Given the description of an element on the screen output the (x, y) to click on. 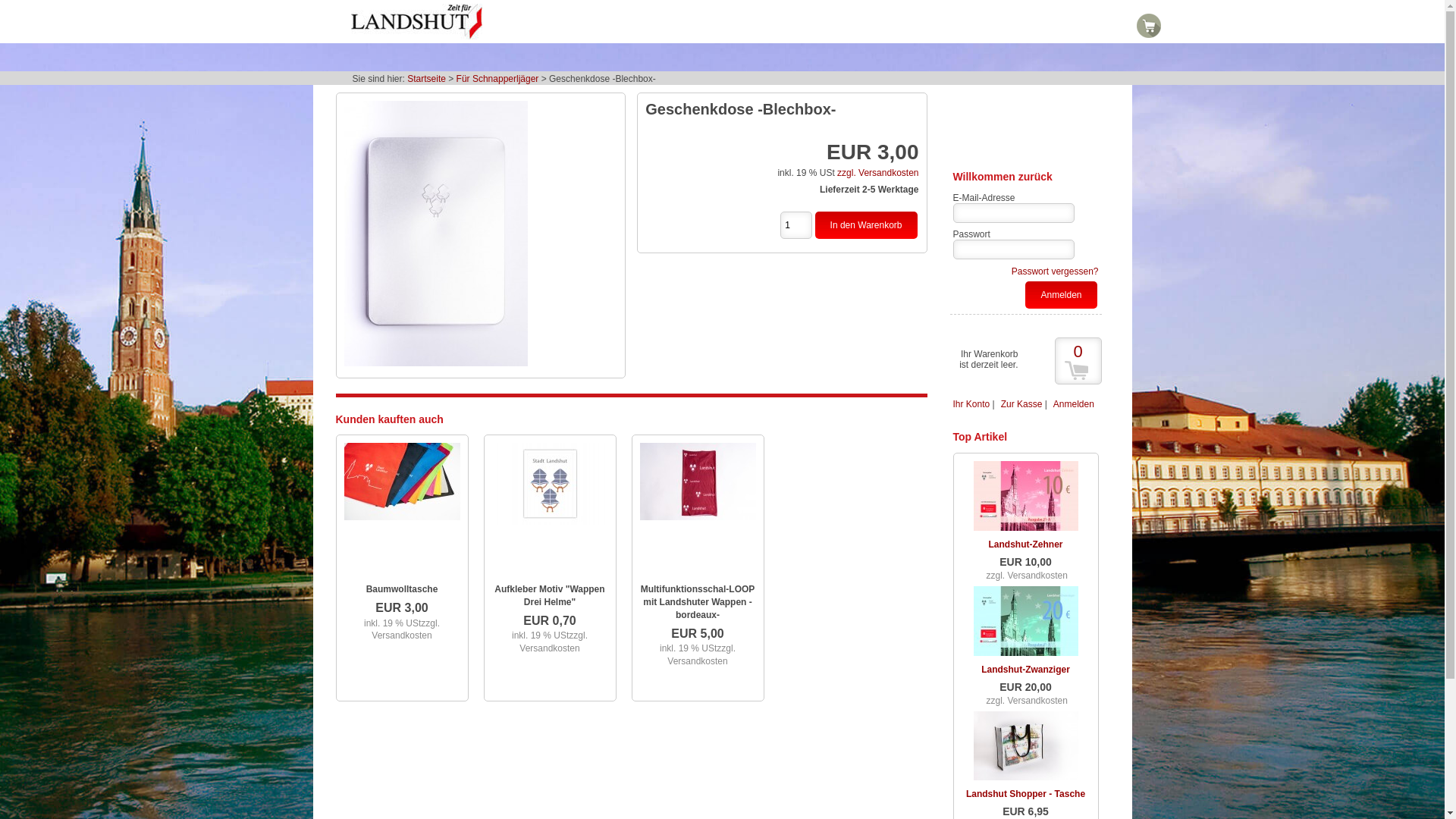
zzgl. Versandkosten Element type: text (405, 629)
zzgl. Versandkosten Element type: text (553, 641)
Anmelden Element type: hover (1060, 294)
In den Warenkorb Element type: hover (866, 224)
Top Artikel Element type: text (979, 436)
Landshut Shopper - Tasche Element type: text (1025, 793)
Zur Kasse Element type: text (1021, 403)
Anmelden Element type: text (1073, 403)
zzgl. Versandkosten Element type: text (701, 654)
Ihr Konto Element type: text (970, 403)
Passwort vergessen? Element type: text (1054, 271)
zzgl. Versandkosten Element type: text (1025, 577)
Landshut-Zehner Element type: text (1025, 544)
In den Warenkorb Element type: text (866, 224)
Startseite Element type: text (426, 78)
0 Element type: text (1078, 360)
Anmelden Element type: text (1060, 294)
zzgl. Versandkosten Element type: text (1025, 702)
zzgl. Versandkosten Element type: text (877, 172)
Landshut-Zwanziger Element type: text (1025, 669)
